Given the description of an element on the screen output the (x, y) to click on. 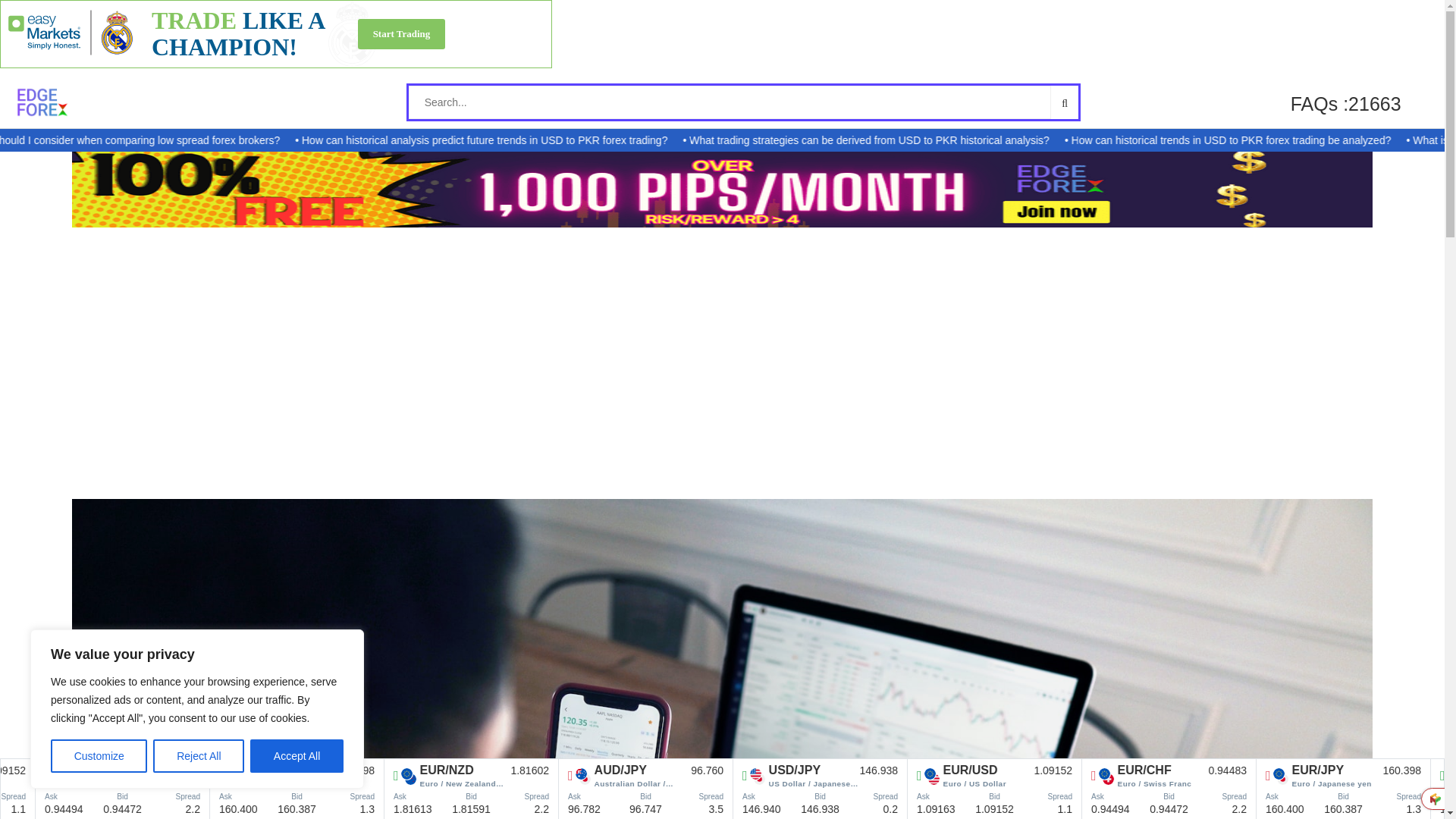
Reject All (198, 756)
Customize (98, 756)
Accept All (296, 756)
